Given the description of an element on the screen output the (x, y) to click on. 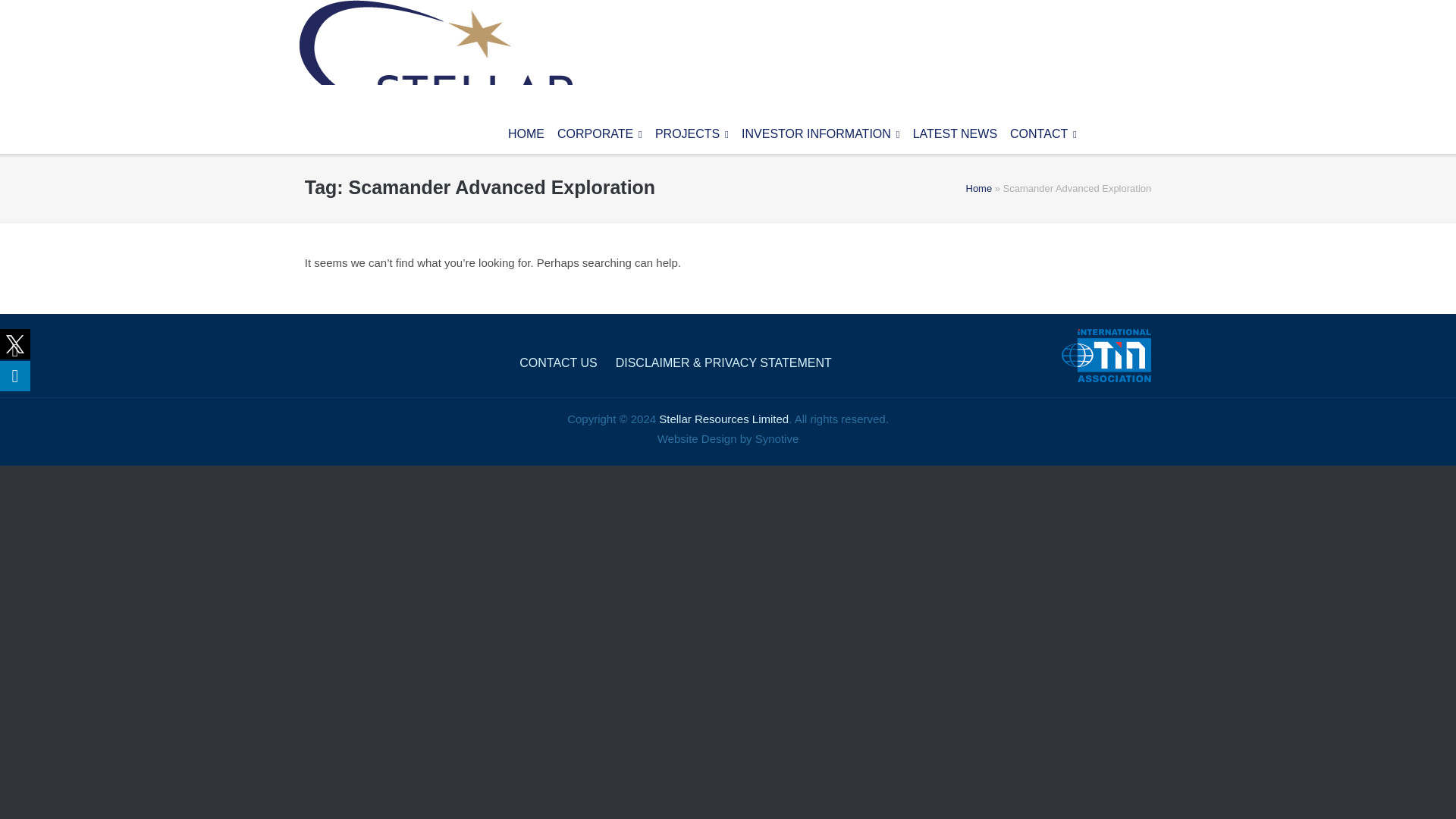
Home (979, 188)
Stellar Resources Limited (724, 418)
PROJECTS (692, 117)
INVESTOR INFORMATION (820, 117)
LATEST NEWS (954, 117)
CONTACT (1043, 117)
Stellar Resources Limited (435, 54)
CORPORATE (599, 117)
CONTACT US (557, 362)
